Given the description of an element on the screen output the (x, y) to click on. 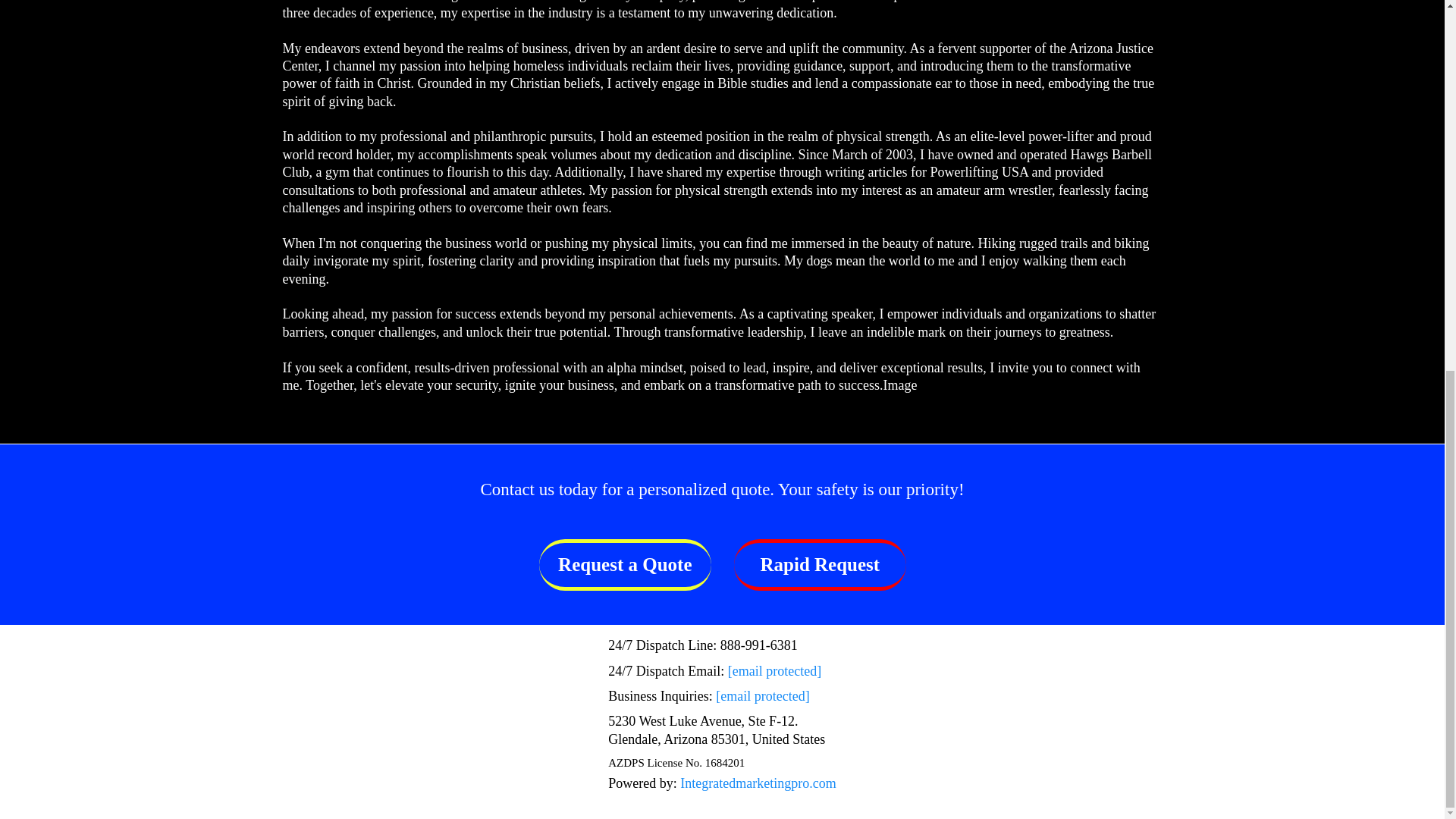
Rapid Request (820, 564)
Integratedmarketingpro.com (757, 783)
Request a Quote (624, 564)
